Given the description of an element on the screen output the (x, y) to click on. 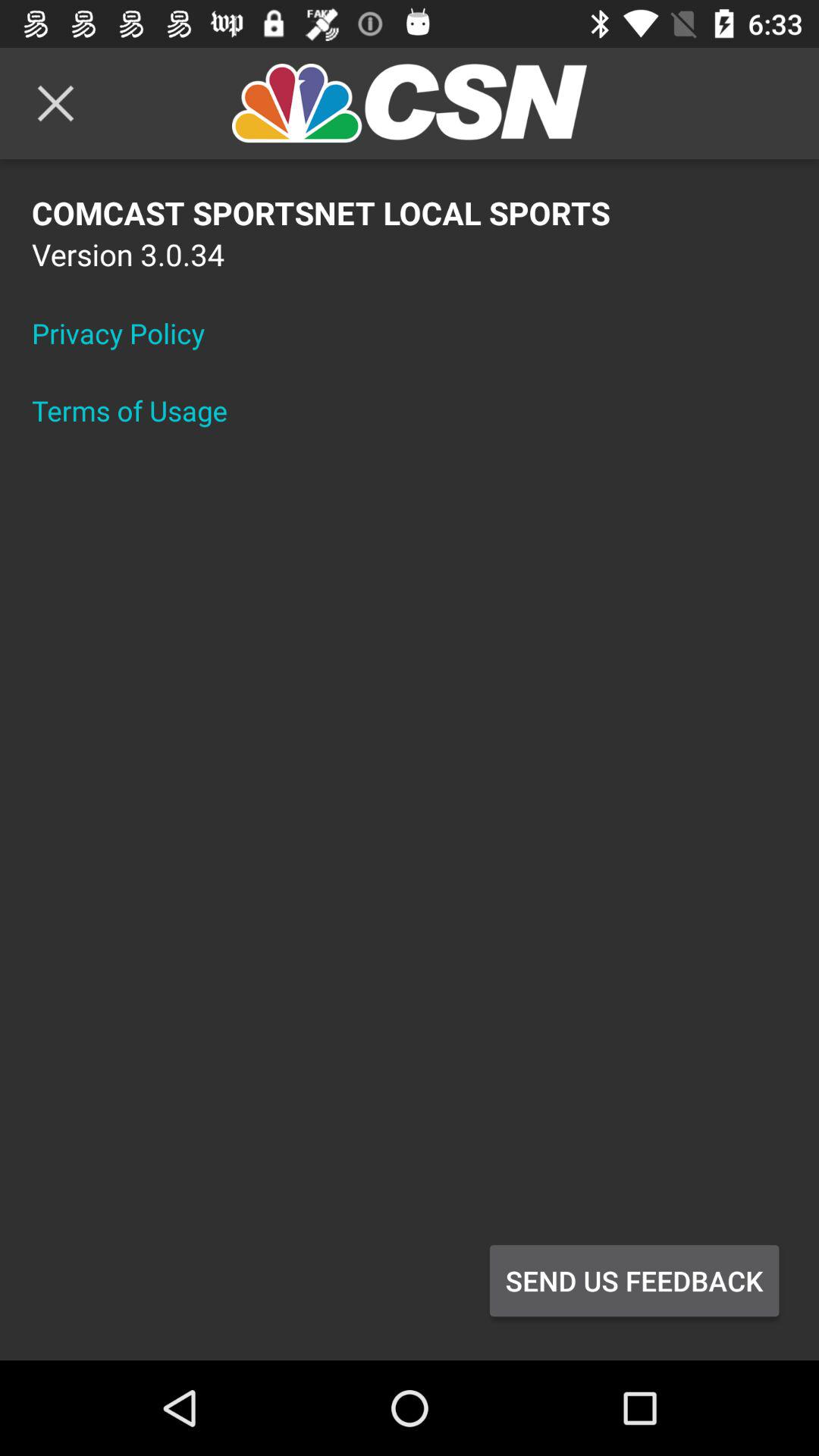
flip until send us feedback item (634, 1280)
